Given the description of an element on the screen output the (x, y) to click on. 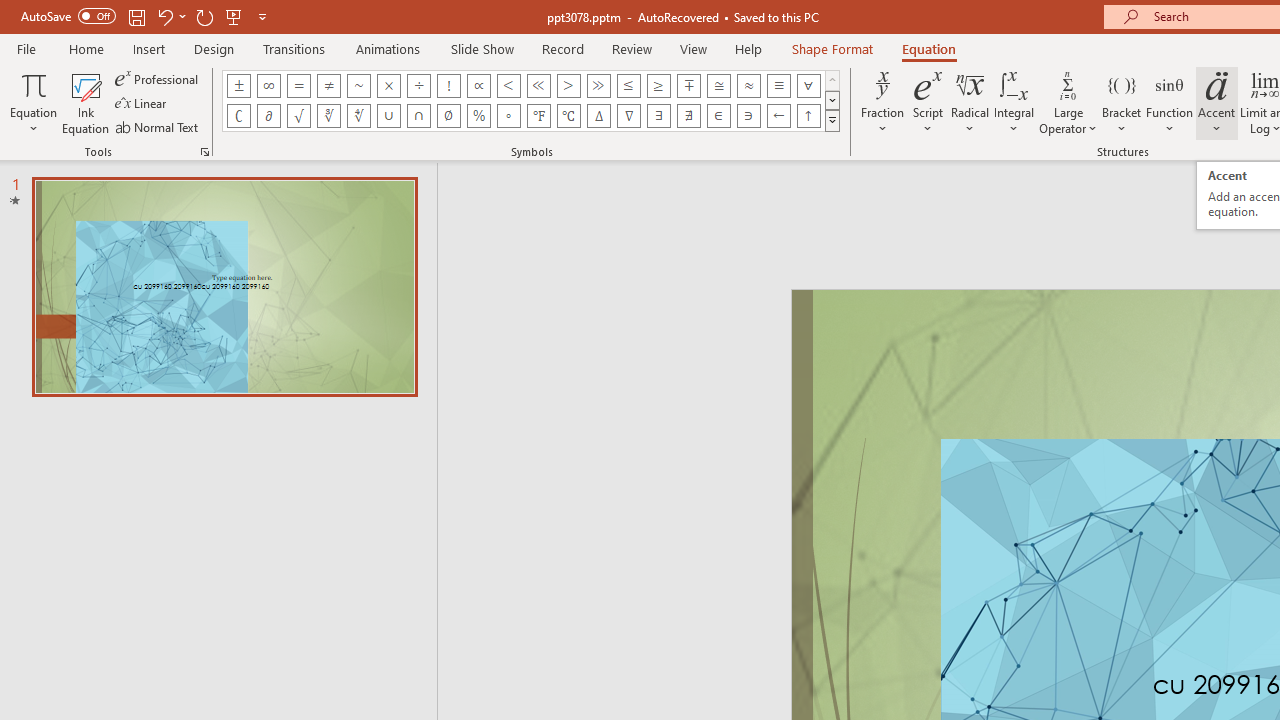
Equation Symbol There Exists (658, 115)
Equation Symbol Not Equal To (328, 85)
Equation Symbol Nabla (628, 115)
Equation Symbol Partial Differential (268, 115)
Equation Symbol There Does Not Exist (689, 115)
Equation Symbol Union (388, 115)
Linear (142, 103)
Equation Symbol Much Less Than (538, 85)
Equation Symbol Greater Than (568, 85)
Script (927, 102)
